Given the description of an element on the screen output the (x, y) to click on. 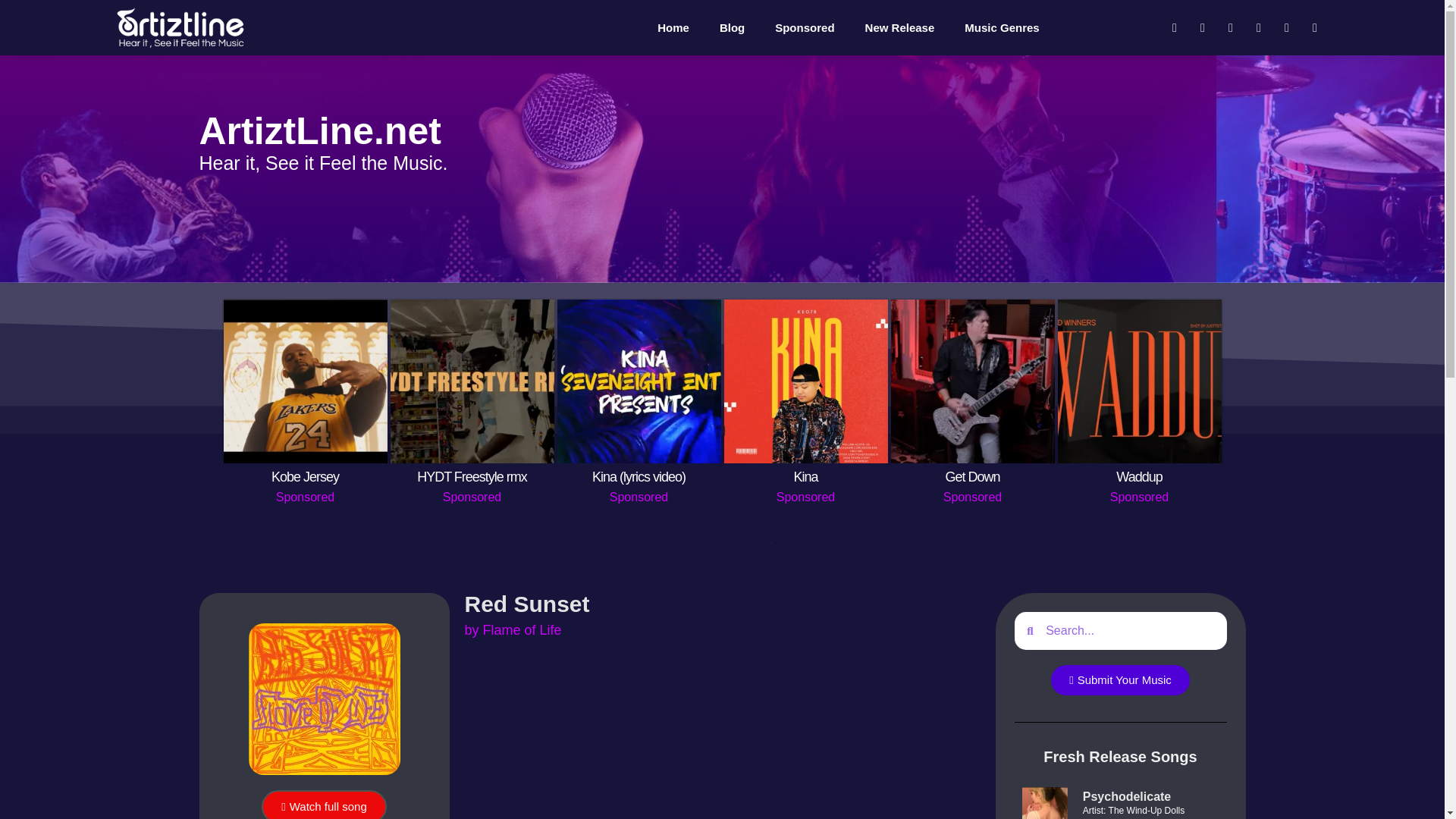
Blog (732, 27)
Home (673, 27)
New Release (900, 27)
Music Genres (1001, 27)
Sponsored (804, 27)
